Given the description of an element on the screen output the (x, y) to click on. 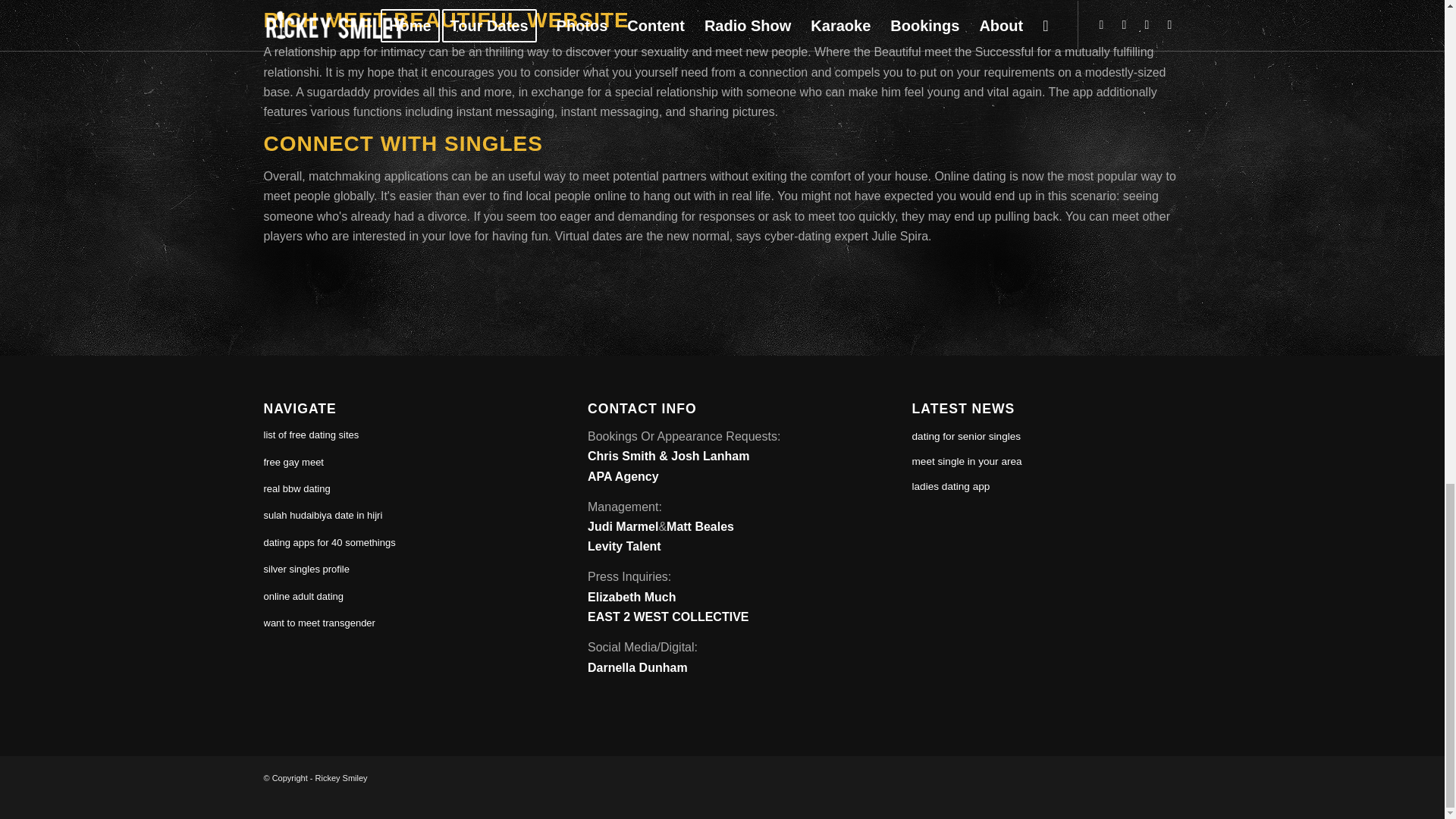
dating for senior singles (967, 436)
Chris Smith (622, 455)
list of free dating sites (397, 435)
free gay meet (397, 462)
real bbw dating (397, 488)
dating apps for 40 somethings (397, 542)
EAST 2 WEST COLLECTIVE (668, 616)
meet single in your area (967, 460)
Matt Beales (699, 526)
Judi Marmel (623, 526)
silver singles profile (397, 569)
want to meet transgender (397, 623)
Elizabeth Much (631, 596)
ladies dating app (951, 486)
online adult dating (397, 596)
